Given the description of an element on the screen output the (x, y) to click on. 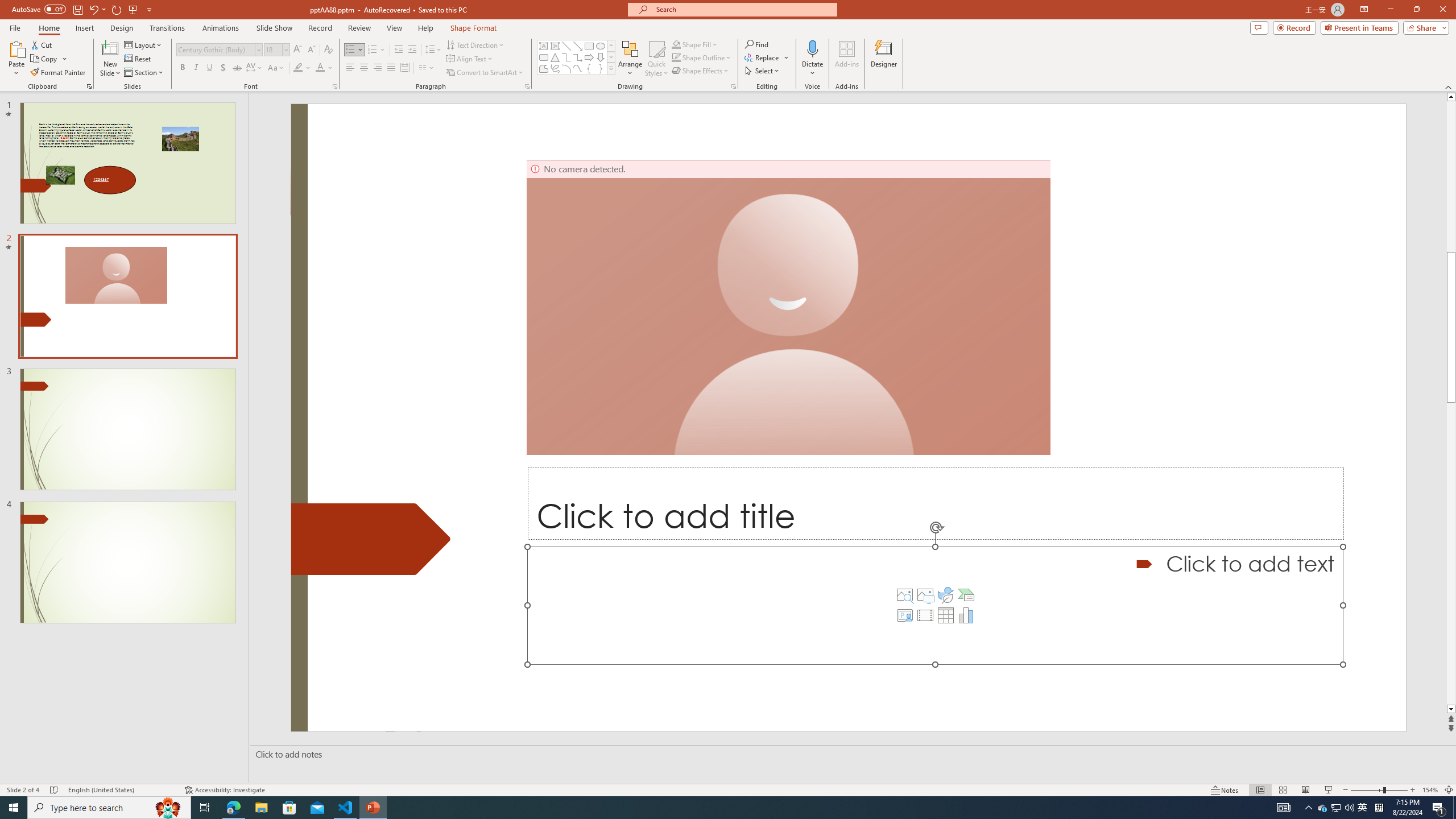
Zoom 154% (1430, 790)
Drop Shadow Rectangle (375, 56)
Corrections (67, 58)
Shape Width (1410, 67)
Snip Diagonal Corner, White (726, 56)
